Given the description of an element on the screen output the (x, y) to click on. 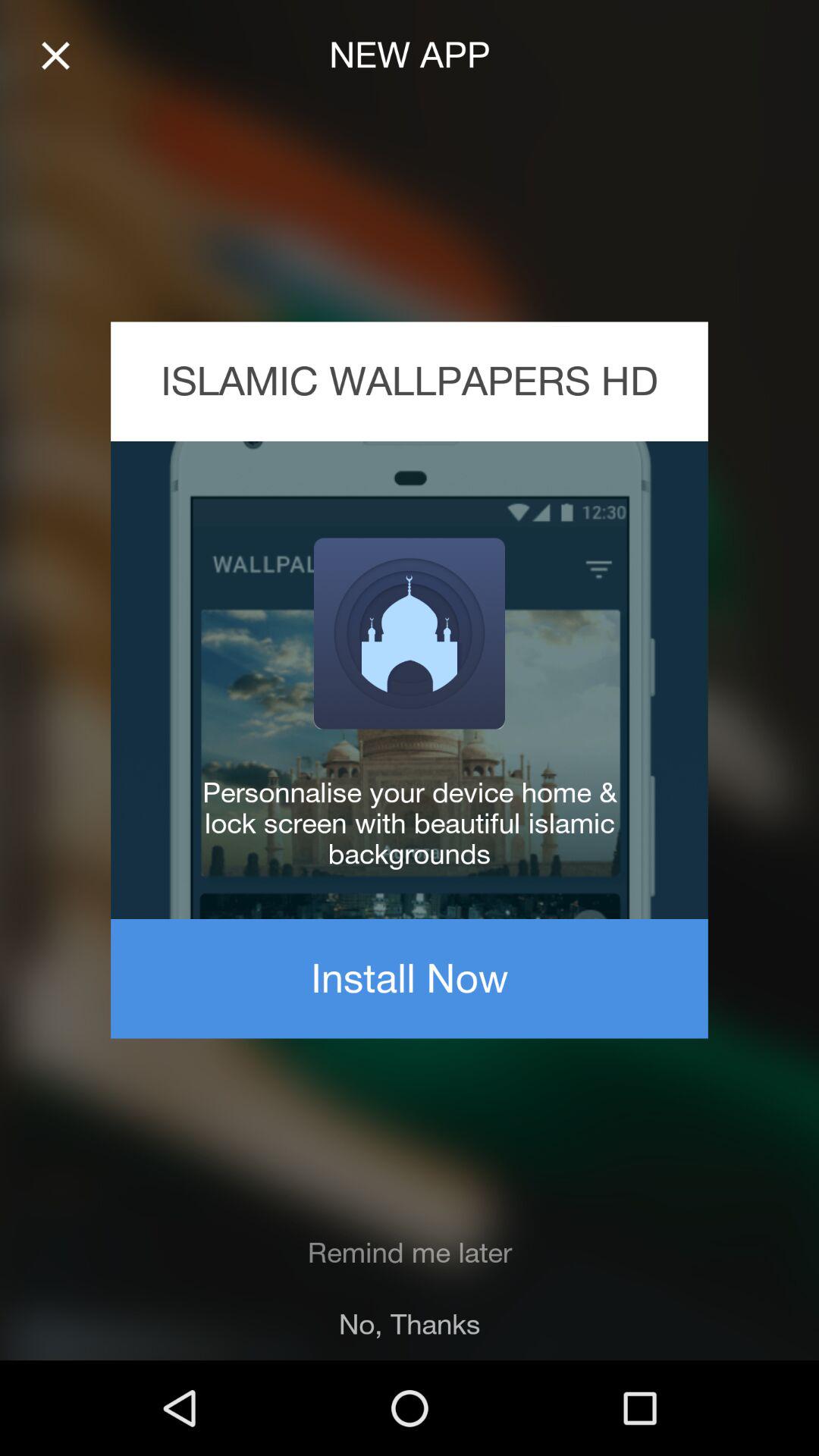
swipe until the no, thanks (409, 1324)
